Given the description of an element on the screen output the (x, y) to click on. 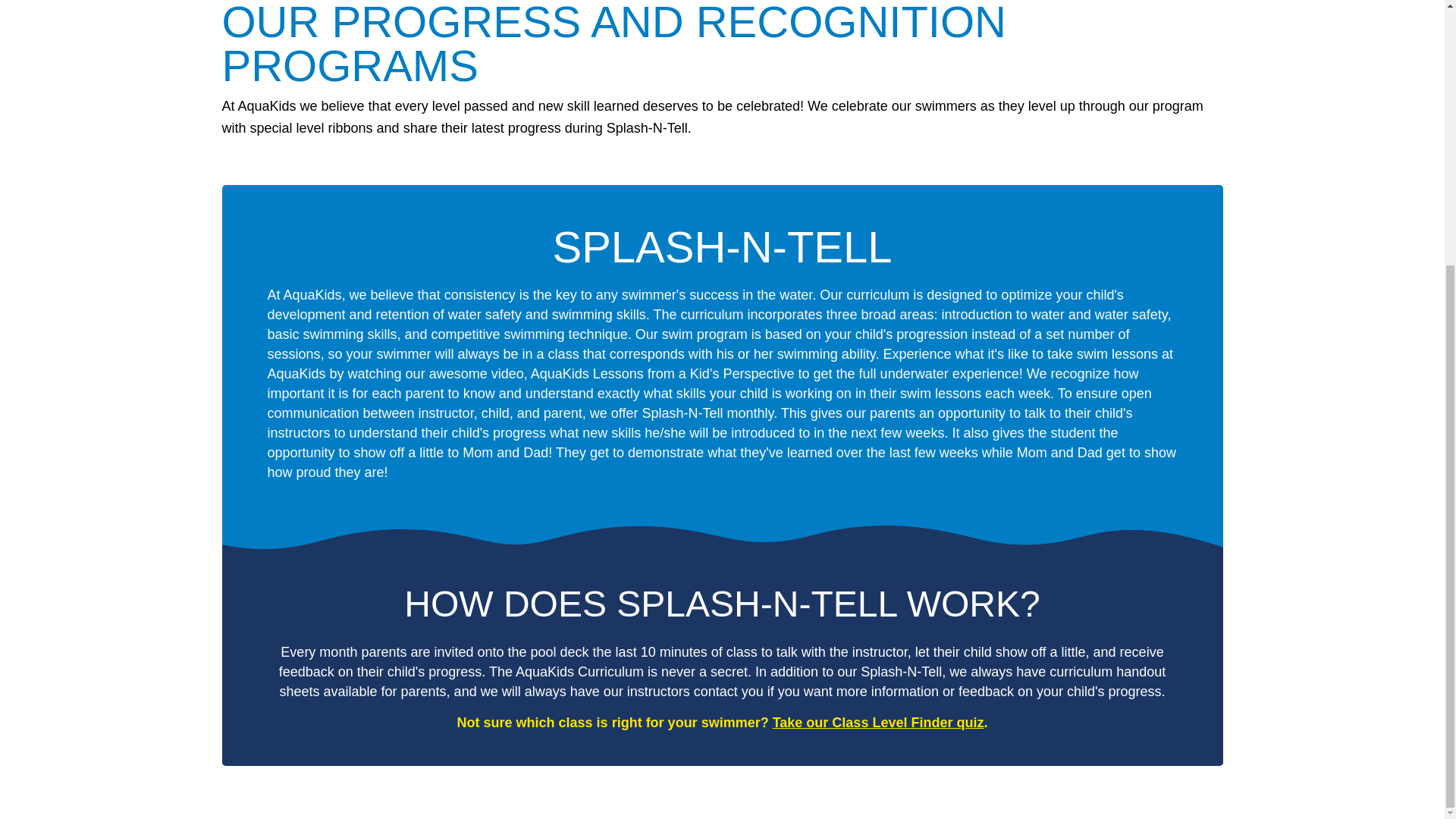
Take our Class Level Finder quiz (878, 722)
